Given the description of an element on the screen output the (x, y) to click on. 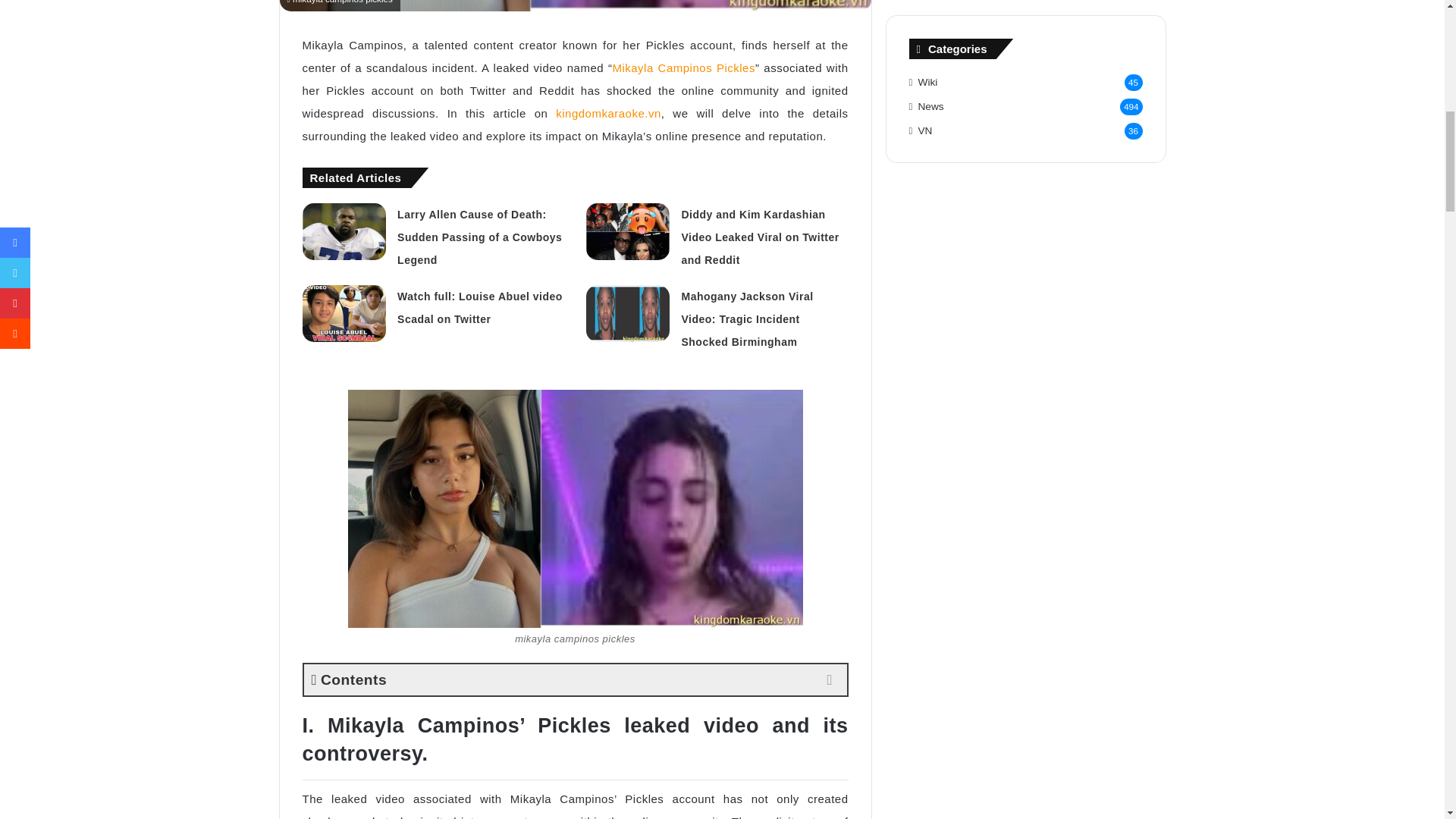
Watch full: Louise Abuel video Scadal on Twitter (479, 307)
Mikayla Campinos Pickles (683, 67)
kingdomkaraoke.vn (608, 113)
